Given the description of an element on the screen output the (x, y) to click on. 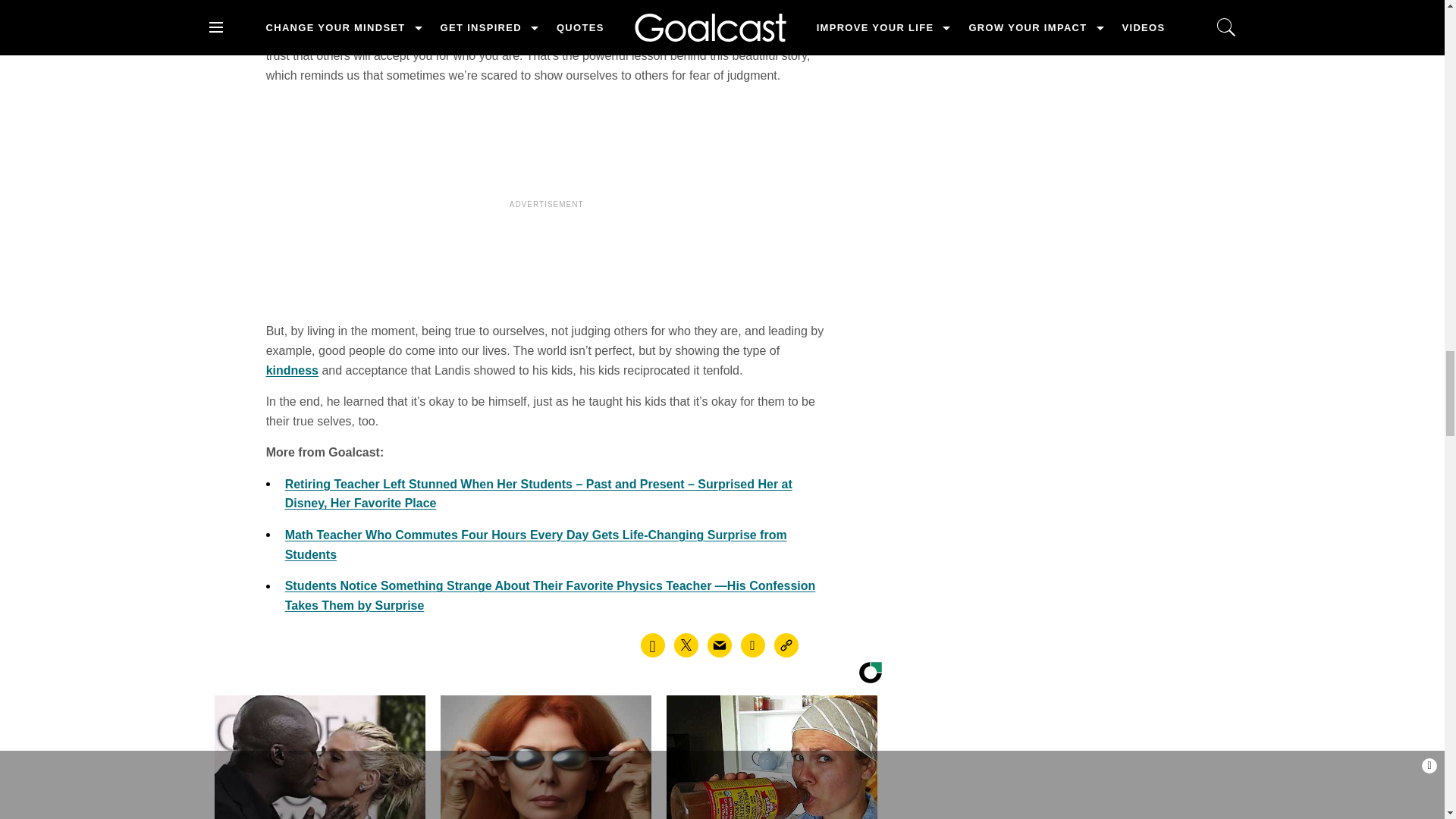
Copy this link to clipboard (785, 645)
